Given the description of an element on the screen output the (x, y) to click on. 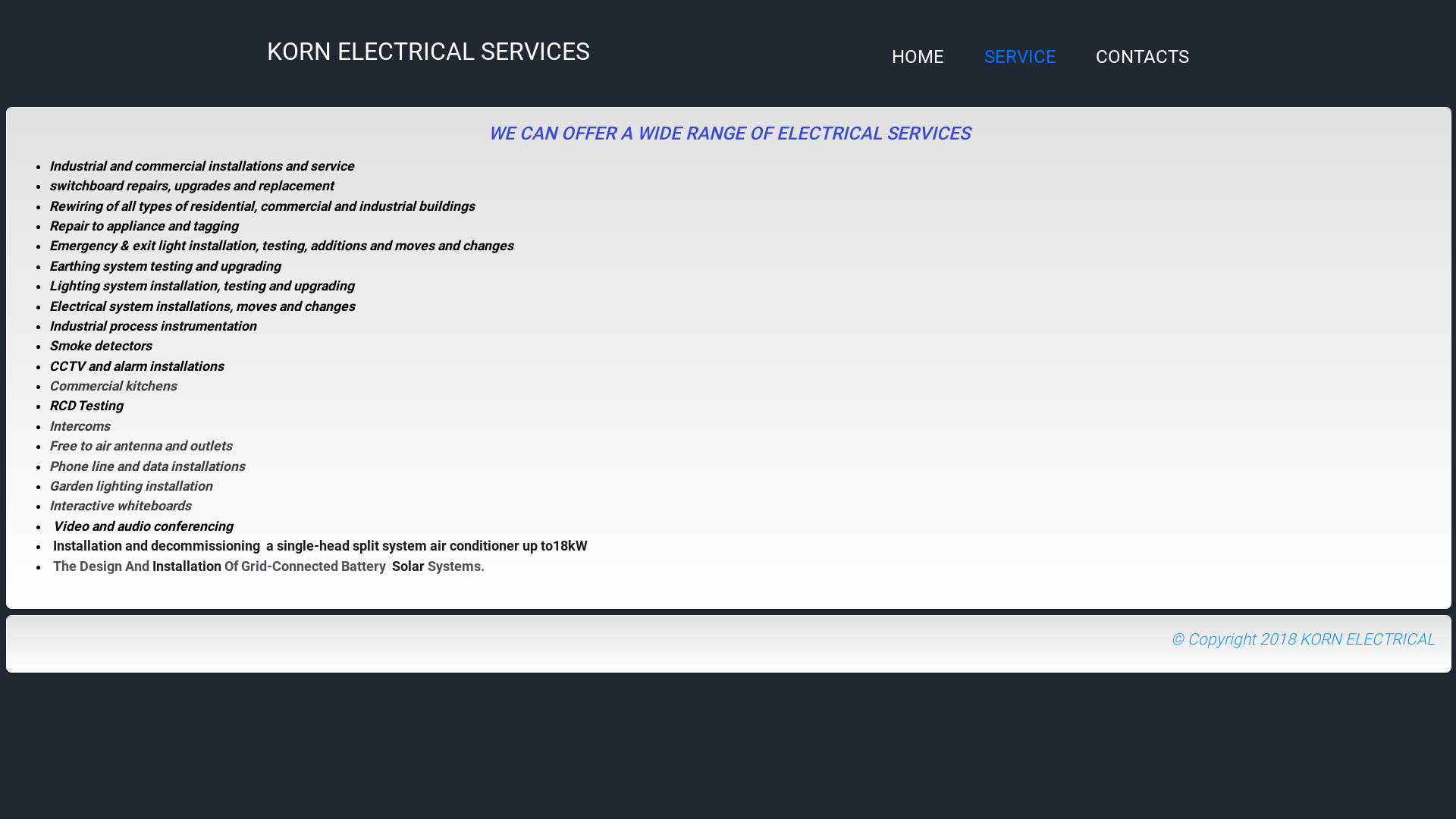
KORN ELECTRICAL SERVICES Element type: text (427, 51)
SERVICE Element type: text (1020, 56)
HOME Element type: text (917, 56)
CONTACTS Element type: text (1142, 56)
